Given the description of an element on the screen output the (x, y) to click on. 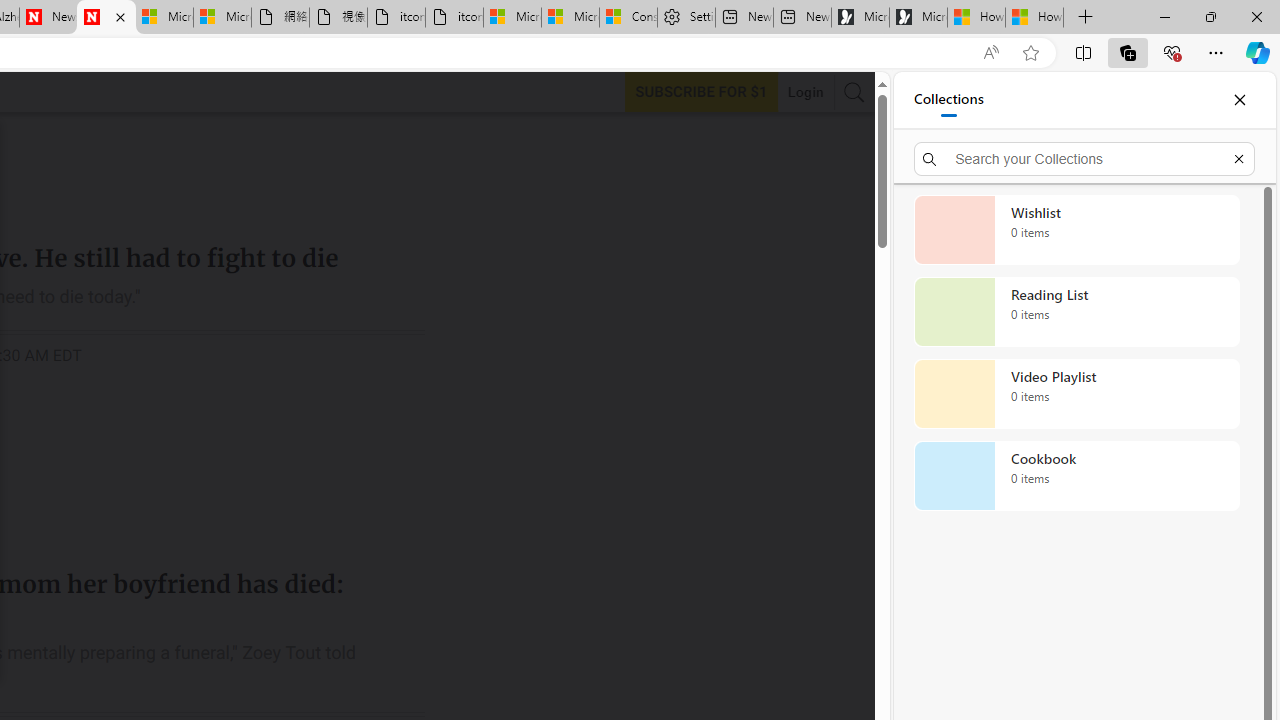
Video Playlist collection, 0 items (1076, 394)
itconcepthk.com/projector_solutions.mp4 (454, 17)
Reading List collection, 0 items (1076, 312)
Wishlist collection, 0 items (1076, 229)
How to Use a TV as a Computer Monitor (1034, 17)
Illness news & latest pictures from Newsweek.com (106, 17)
Consumer Health Data Privacy Policy (628, 17)
